Given the description of an element on the screen output the (x, y) to click on. 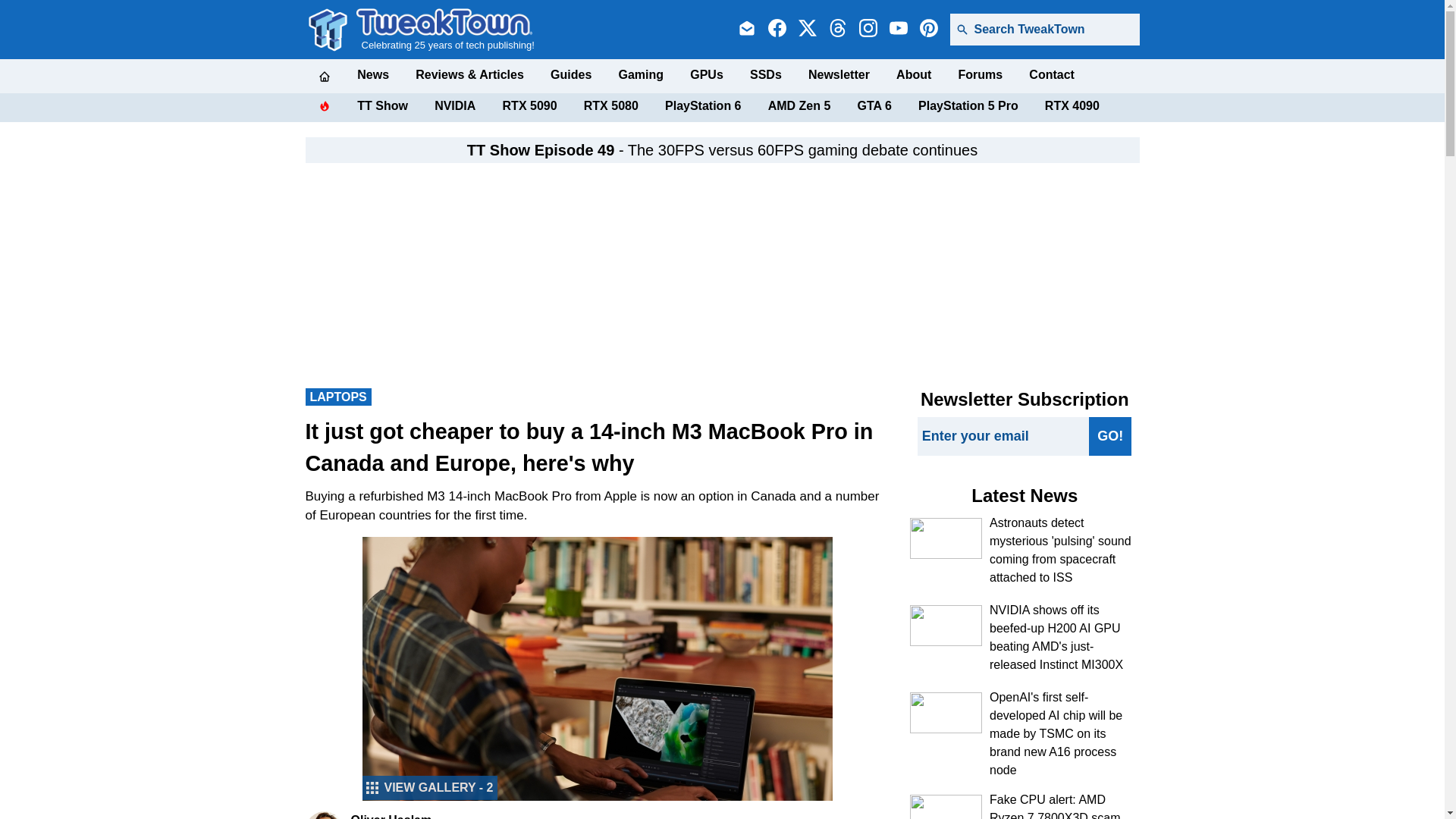
Open Gallery (429, 787)
Oliver Haslam (323, 815)
Celebrating 25 years of tech publishing! (445, 29)
GO! (1110, 435)
News (372, 74)
